Given the description of an element on the screen output the (x, y) to click on. 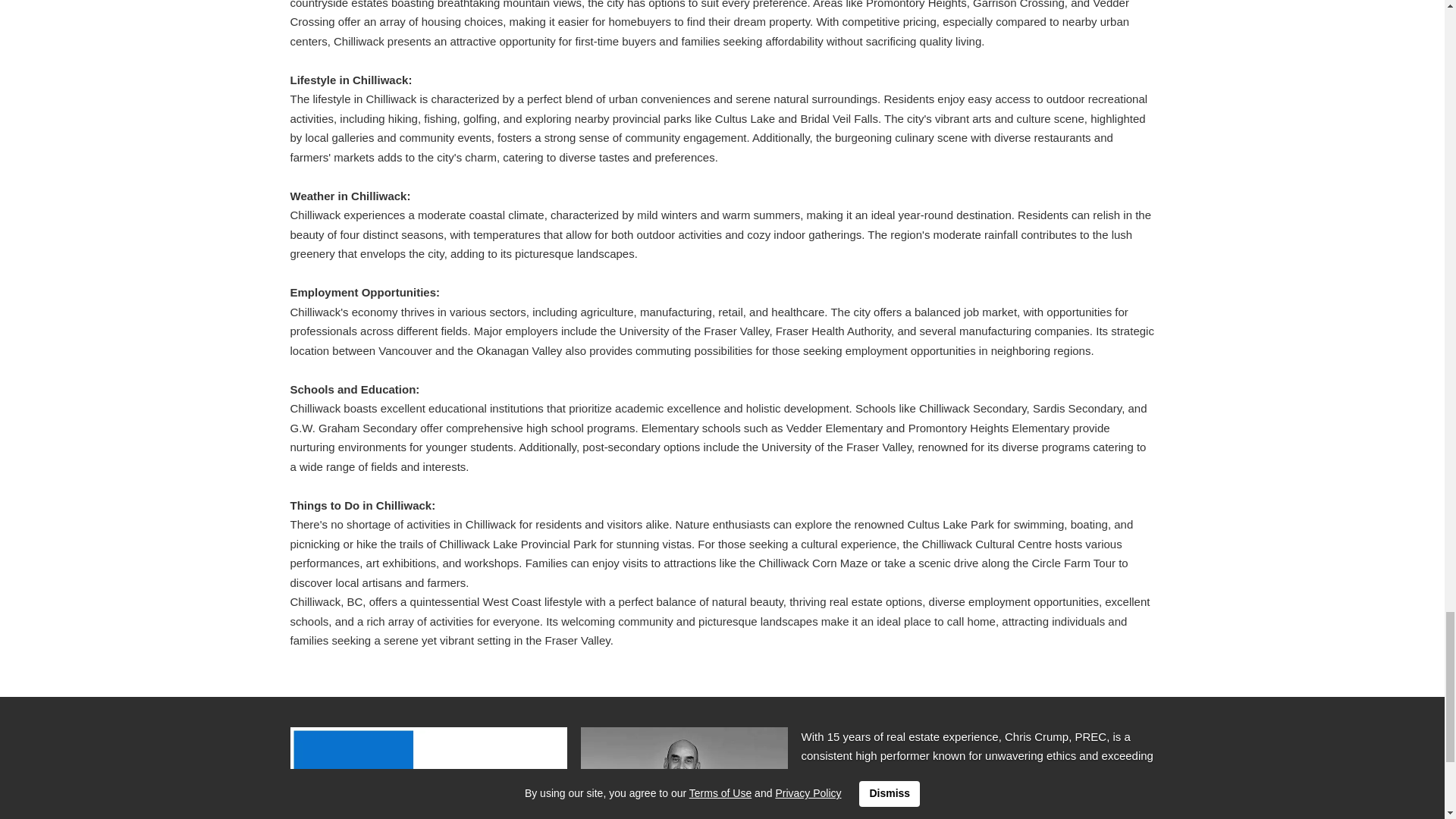
460 Realty (427, 773)
